Given the description of an element on the screen output the (x, y) to click on. 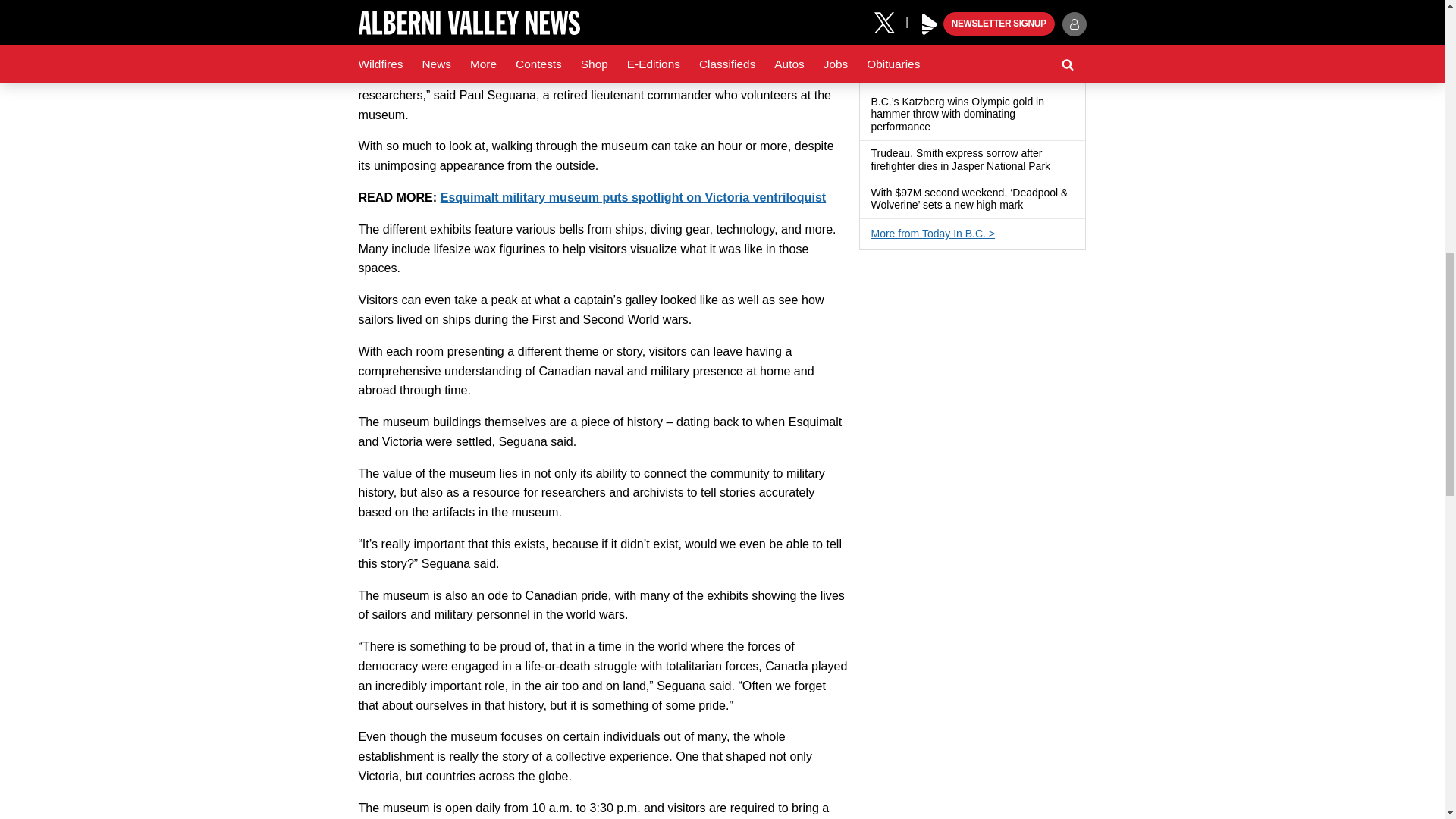
Has a gallery (1029, 75)
